Given the description of an element on the screen output the (x, y) to click on. 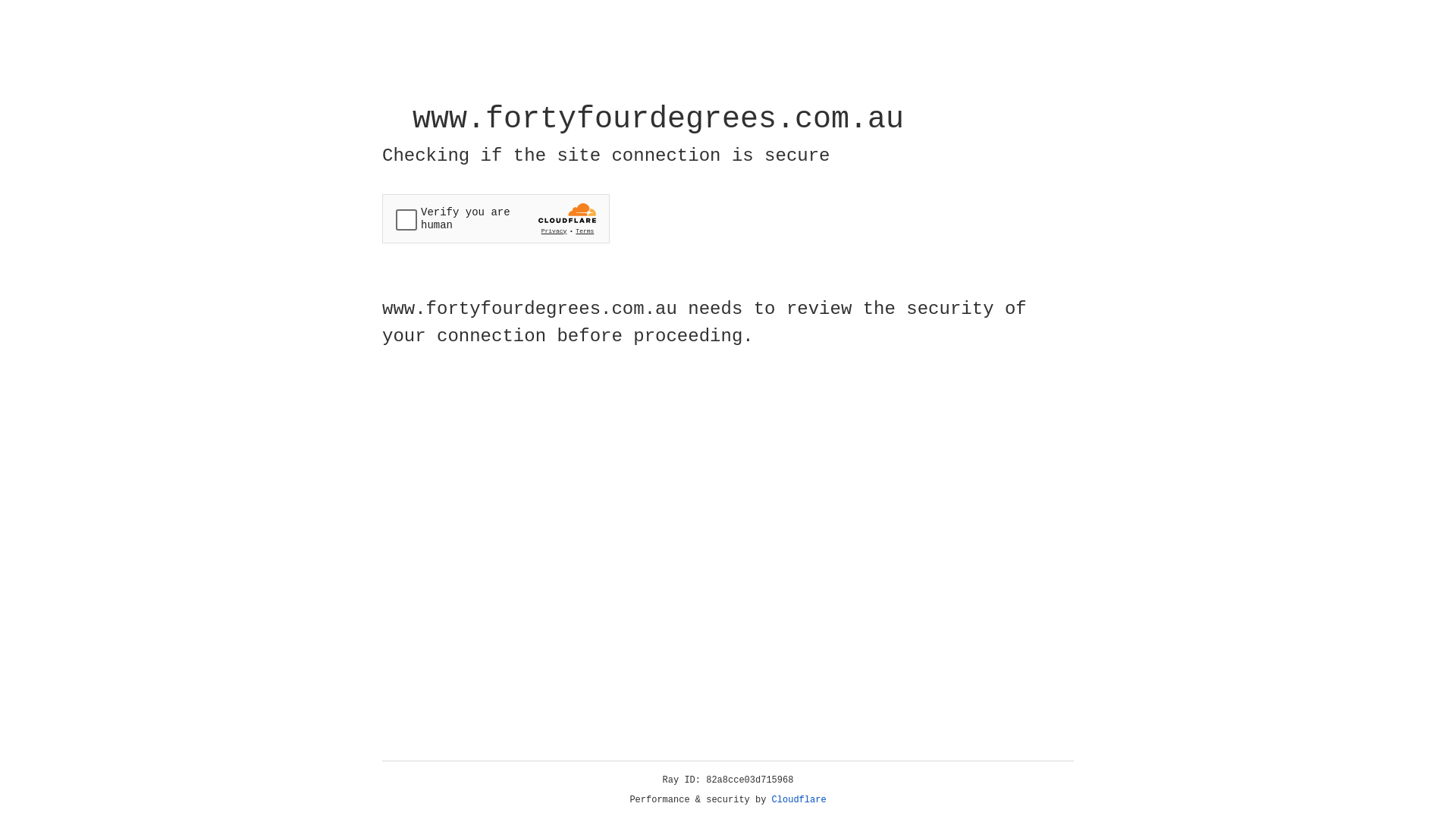
Cloudflare Element type: text (798, 799)
Widget containing a Cloudflare security challenge Element type: hover (495, 218)
